Given the description of an element on the screen output the (x, y) to click on. 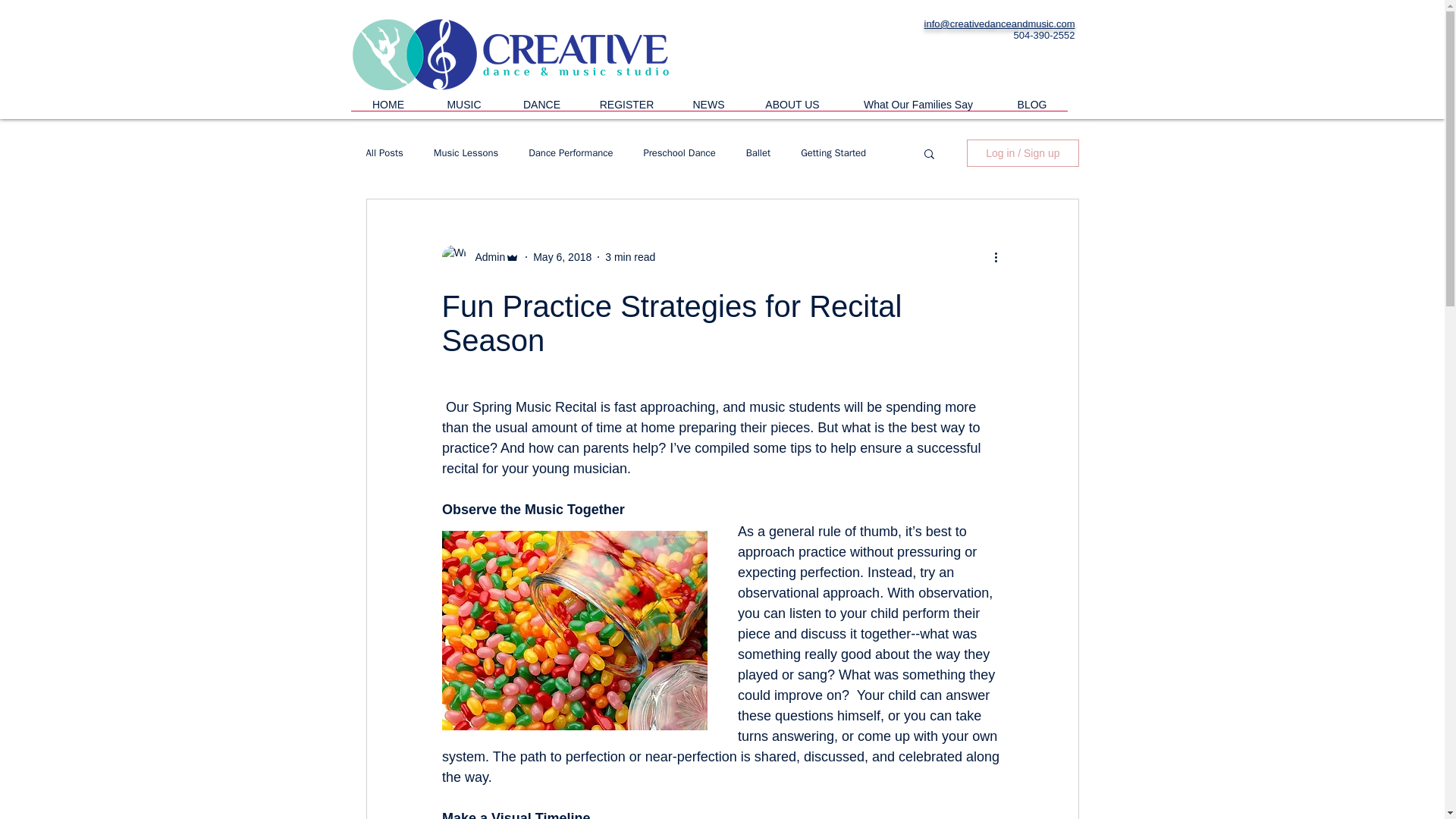
NEWS (707, 109)
ABOUT US (792, 109)
What Our Families Say (918, 109)
Dance Performance (570, 152)
Getting Started (833, 152)
All Posts (384, 152)
Admin (485, 256)
May 6, 2018 (561, 256)
Preschool Dance (678, 152)
HOME (387, 109)
